Given the description of an element on the screen output the (x, y) to click on. 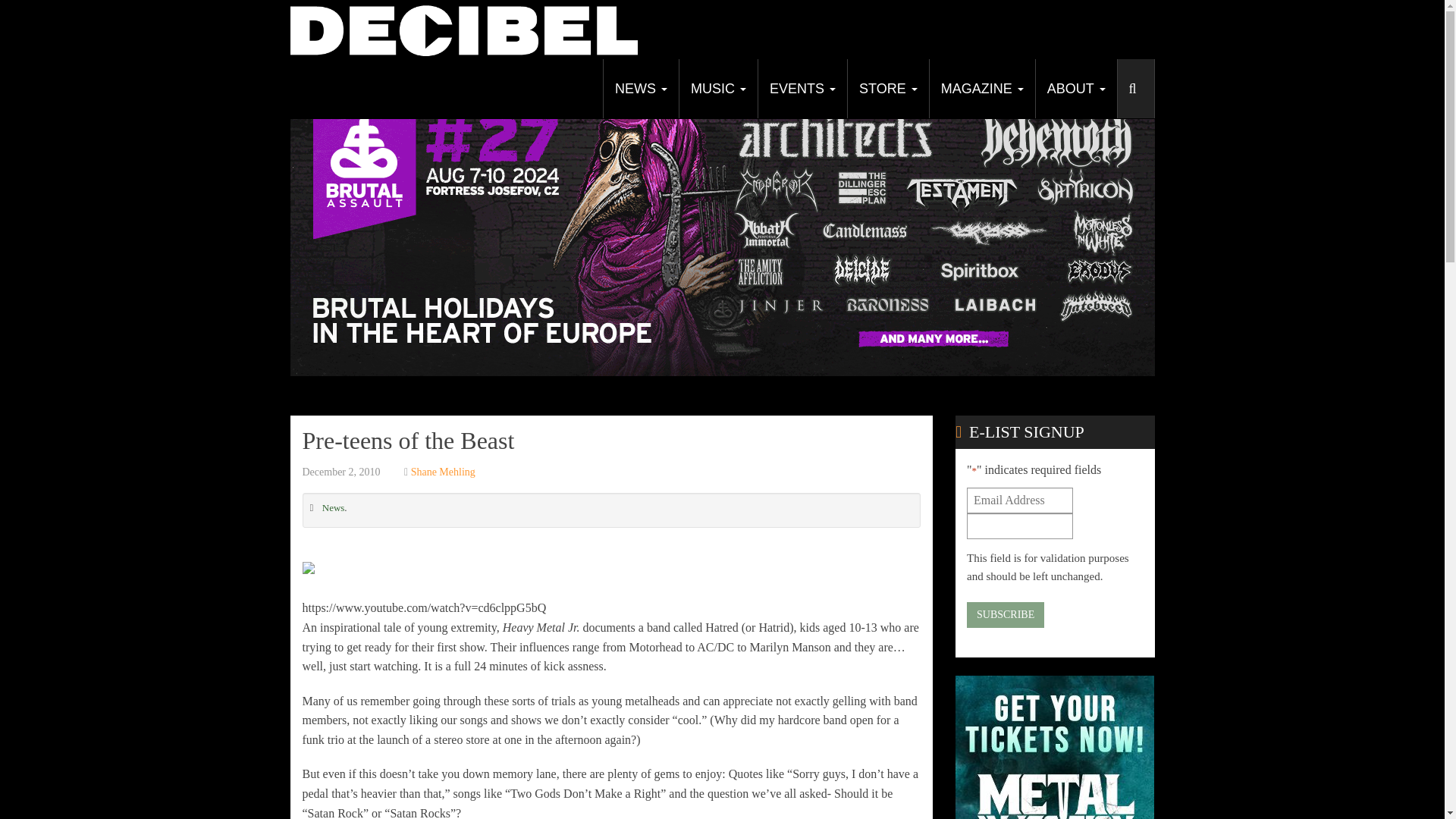
Facebook (1027, 73)
ABOUT (1075, 87)
Events (802, 87)
EVENTS (802, 87)
Soundcloud (1139, 73)
Music (717, 87)
NEWS (640, 87)
Twitter (1056, 73)
MUSIC (717, 87)
YouTube (1083, 73)
News (640, 87)
Instagram (1111, 73)
 SEARCH (1135, 95)
Decibel Magazine (463, 28)
STORE (887, 87)
